Given the description of an element on the screen output the (x, y) to click on. 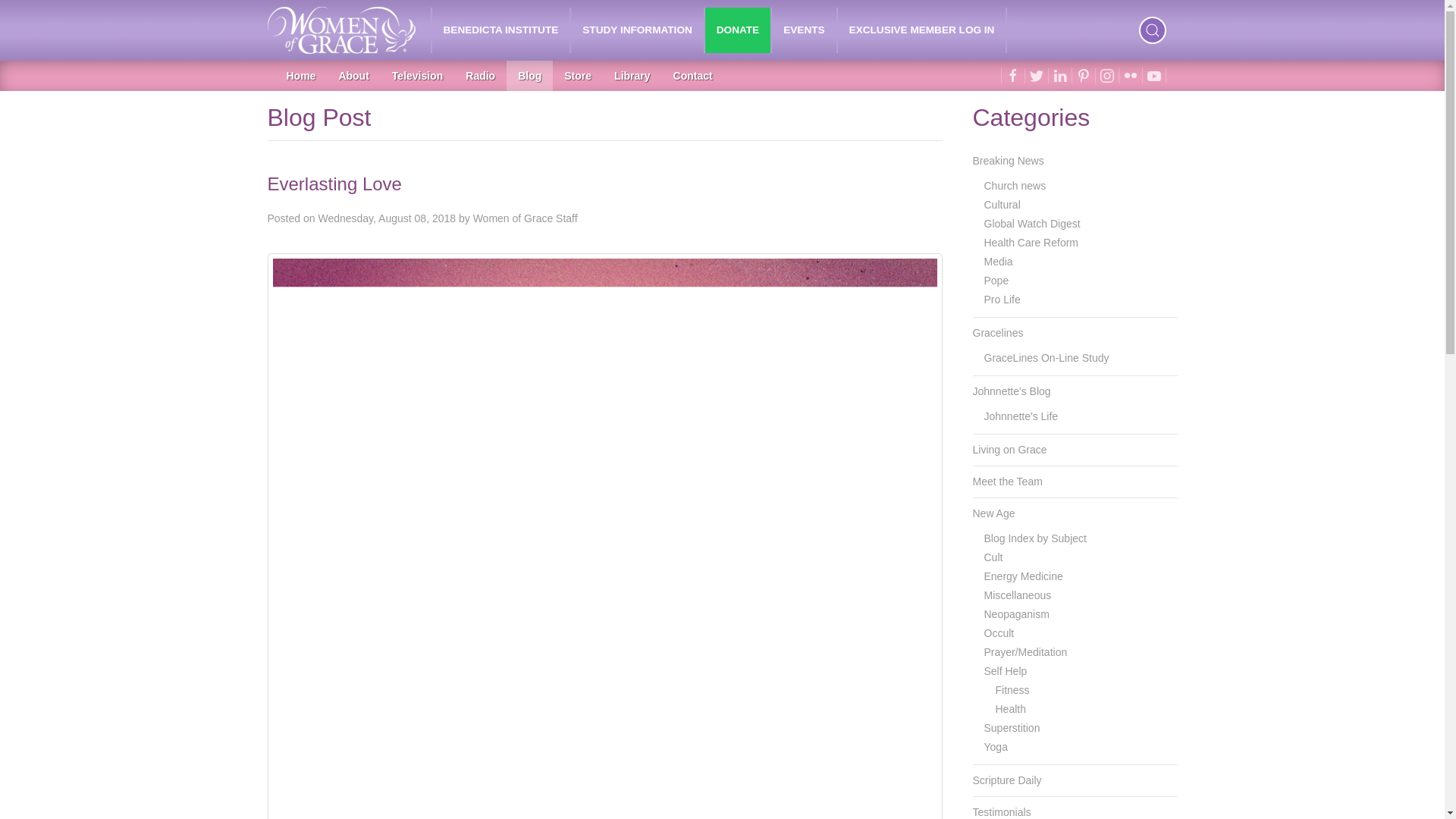
Contact (692, 75)
DONATE (737, 30)
About (353, 75)
EVENTS (803, 30)
Women of Grace Staff (525, 218)
Home (300, 75)
Radio (480, 75)
STUDY INFORMATION (636, 30)
Store (577, 75)
EXCLUSIVE MEMBER LOG IN (922, 30)
